Given the description of an element on the screen output the (x, y) to click on. 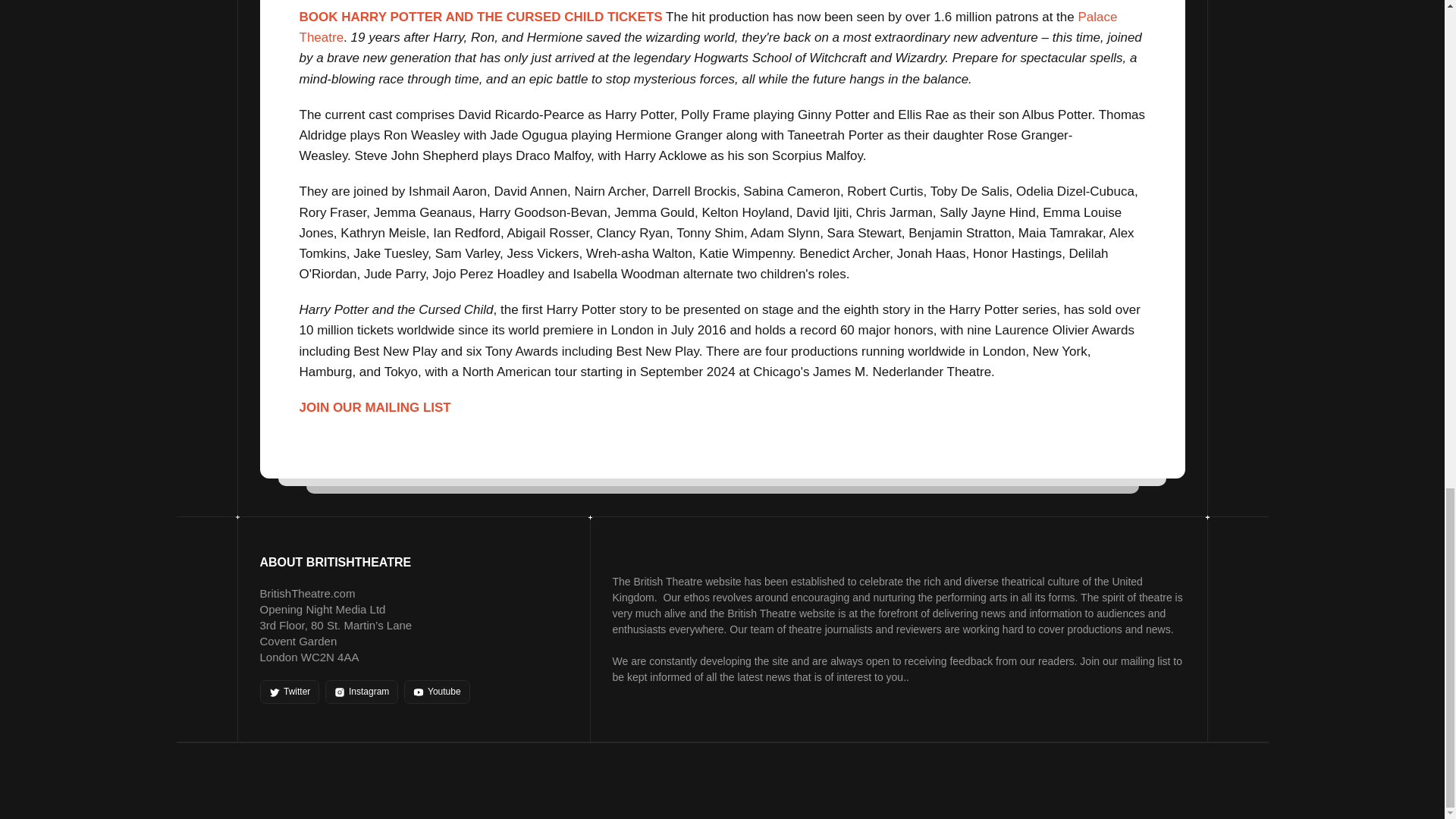
JOIN OUR MAILING LIST (373, 407)
Twitter (288, 691)
Palace Theatre (708, 27)
Instagram (360, 691)
BOOK HARRY POTTER AND THE CURSED CHILD TICKETS (480, 16)
Youtube (437, 691)
